Given the description of an element on the screen output the (x, y) to click on. 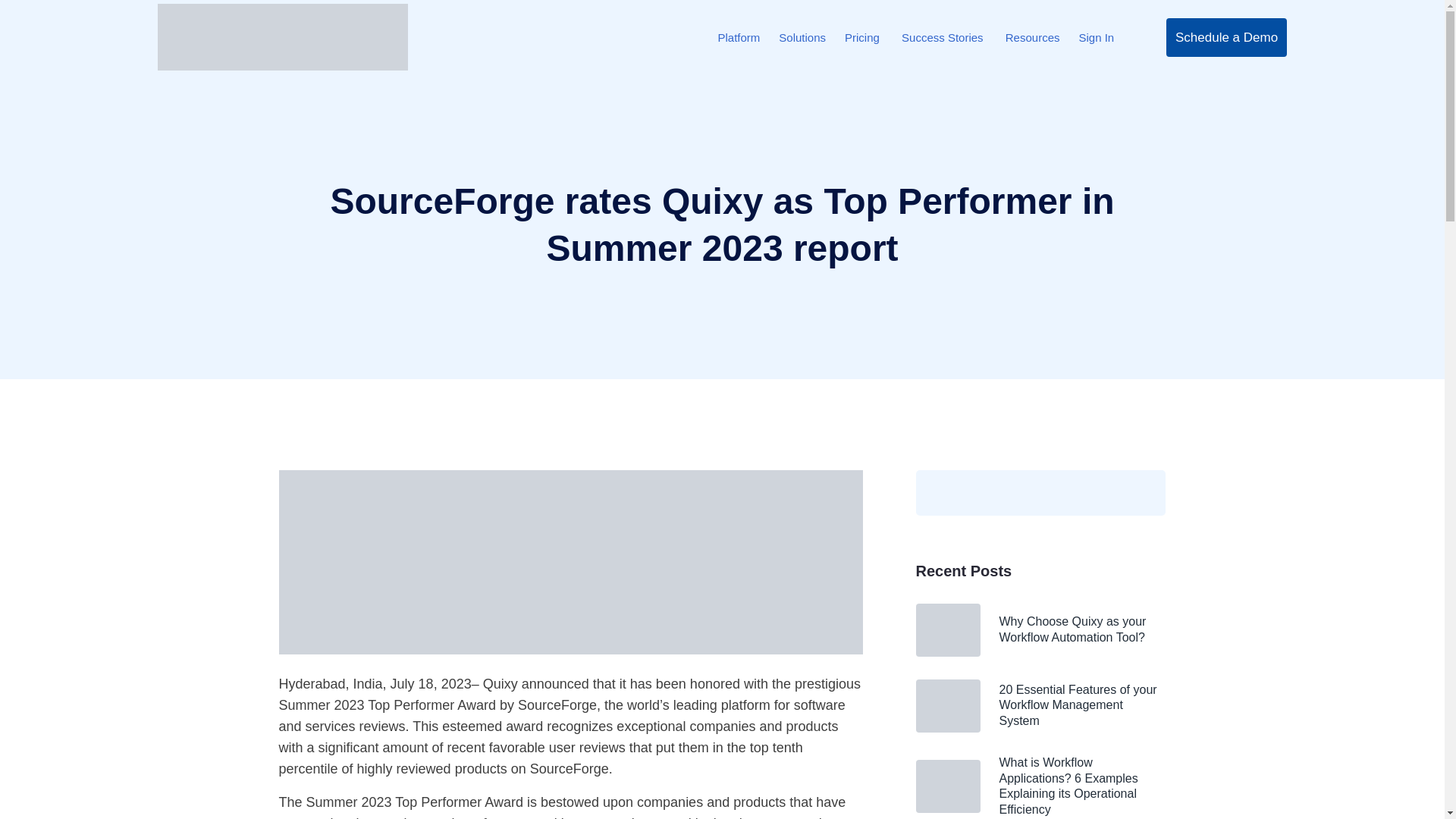
Platform (738, 36)
Platform (738, 36)
Solutions (801, 36)
Solutions (801, 36)
